Given the description of an element on the screen output the (x, y) to click on. 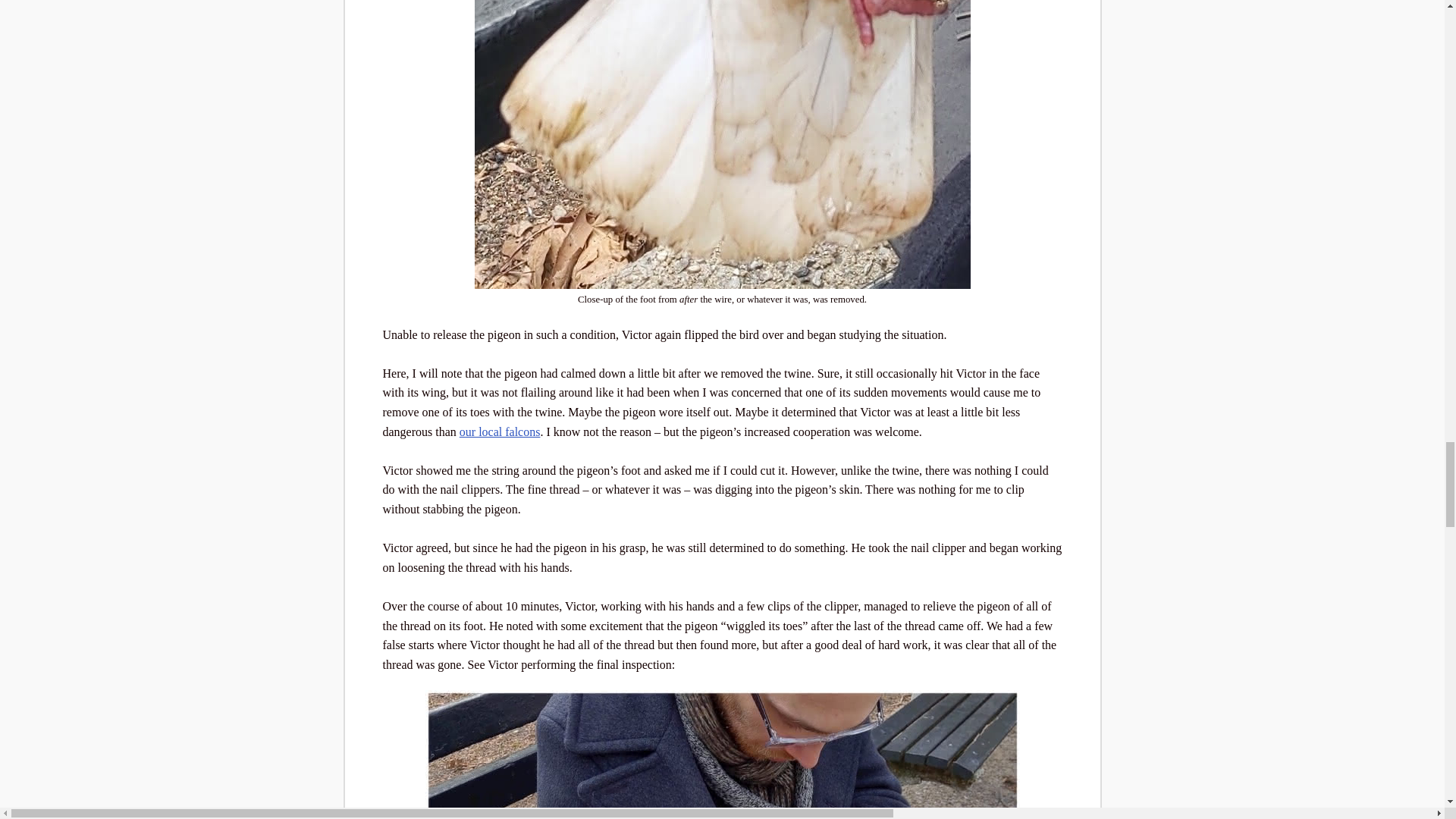
our local falcons (500, 431)
